Given the description of an element on the screen output the (x, y) to click on. 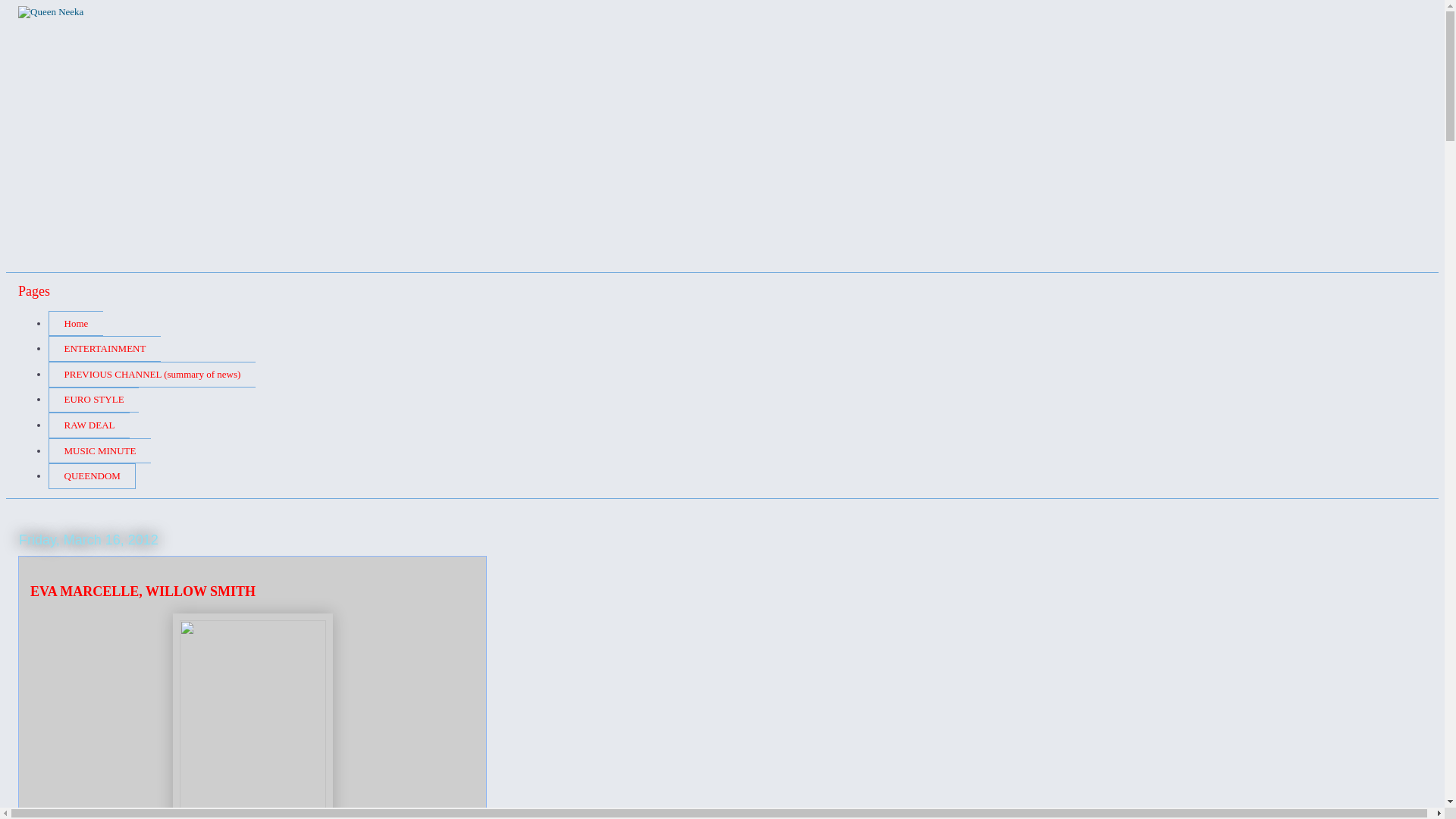
Home (75, 323)
QUEENDOM (91, 475)
MUSIC MINUTE (99, 451)
ENTERTAINMENT (104, 348)
EURO STYLE (93, 400)
RAW DEAL (88, 425)
